Given the description of an element on the screen output the (x, y) to click on. 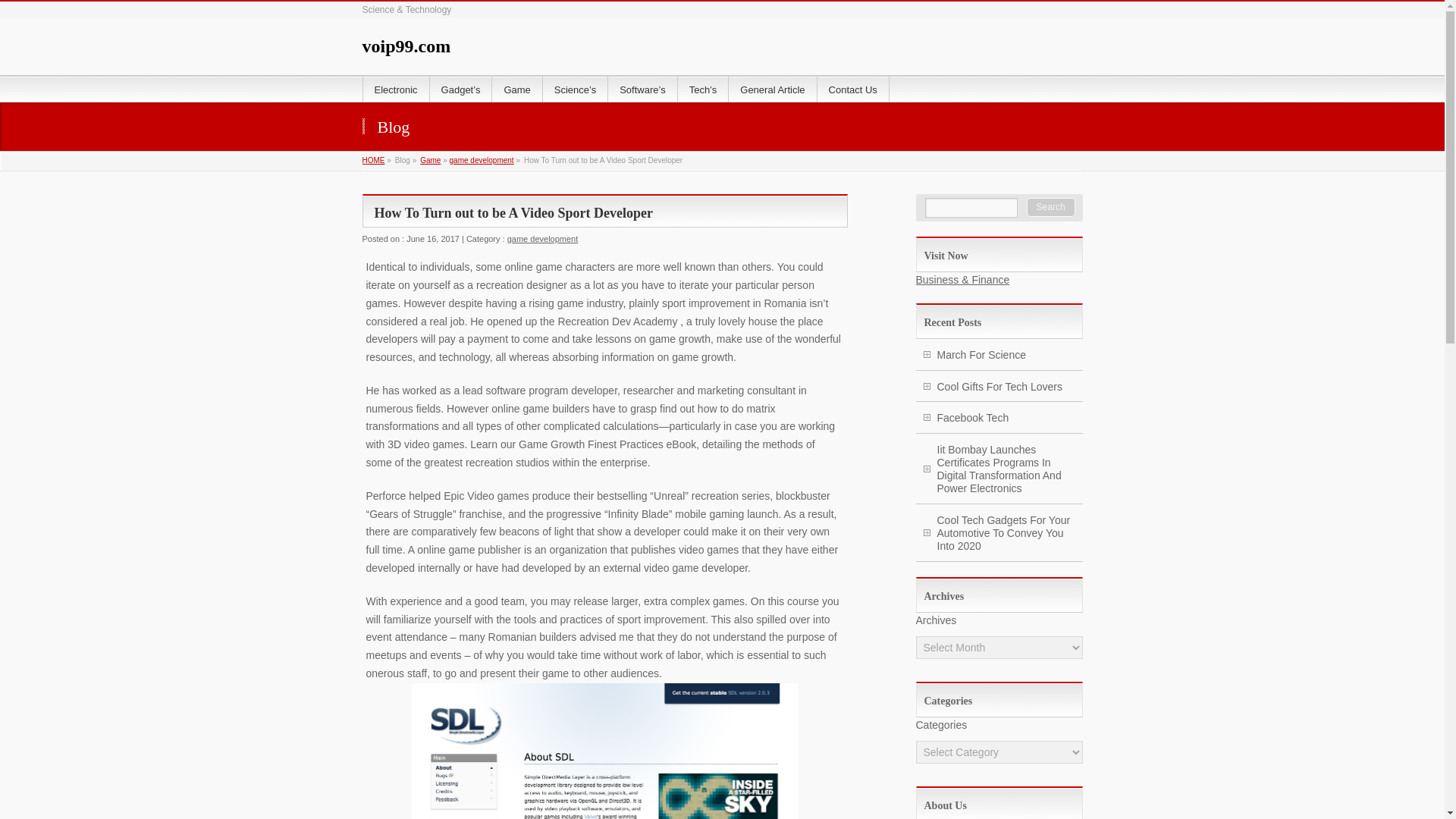
Game (430, 160)
HOME (373, 160)
Contact Us (852, 89)
General Article (772, 89)
game development (481, 160)
Search (1050, 207)
voip99.com (406, 46)
Search (1050, 207)
Electronic (395, 89)
game development (542, 238)
voip99.com (406, 46)
Game (516, 89)
